Given the description of an element on the screen output the (x, y) to click on. 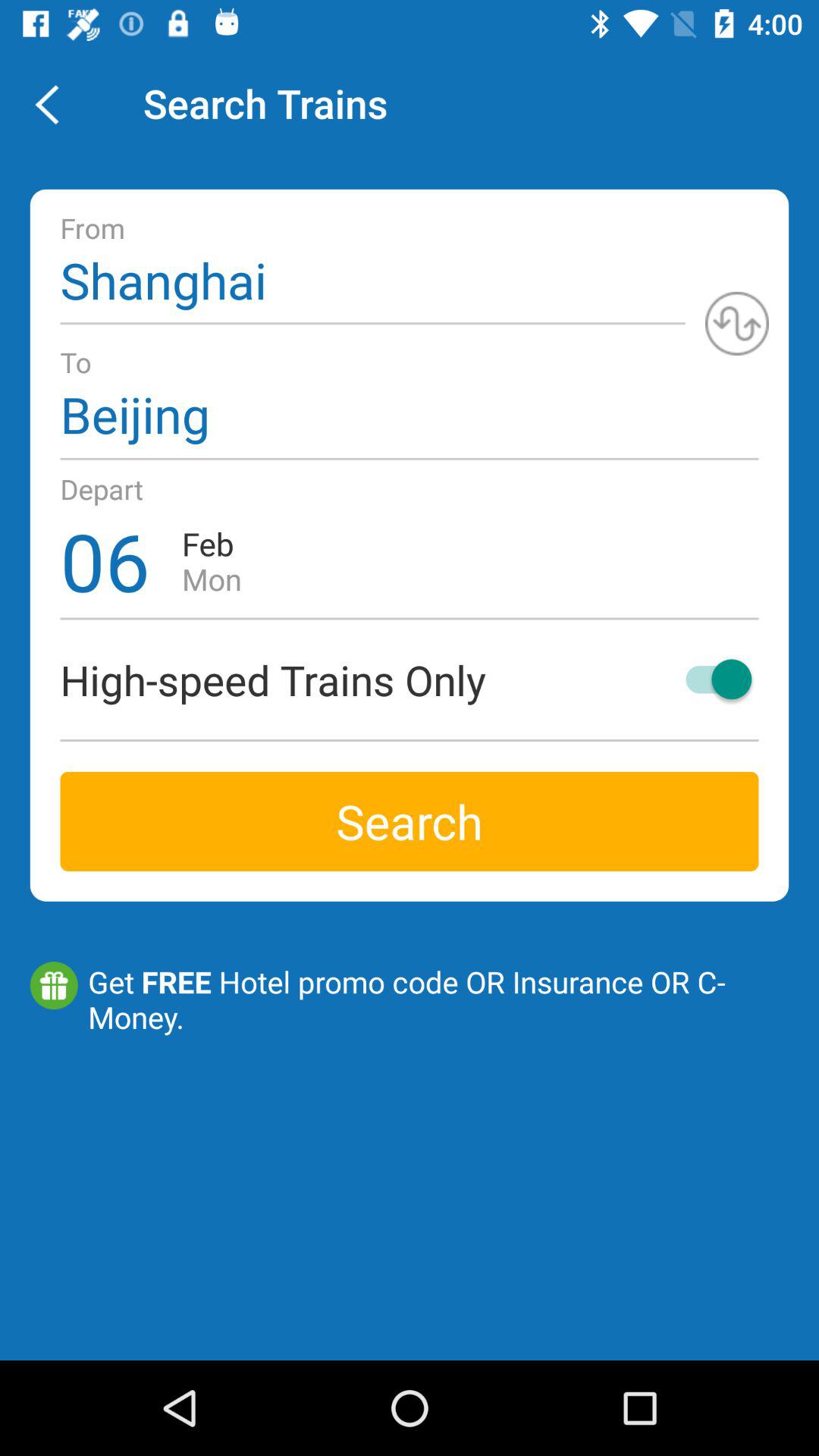
swap departure and destination location (736, 323)
